Given the description of an element on the screen output the (x, y) to click on. 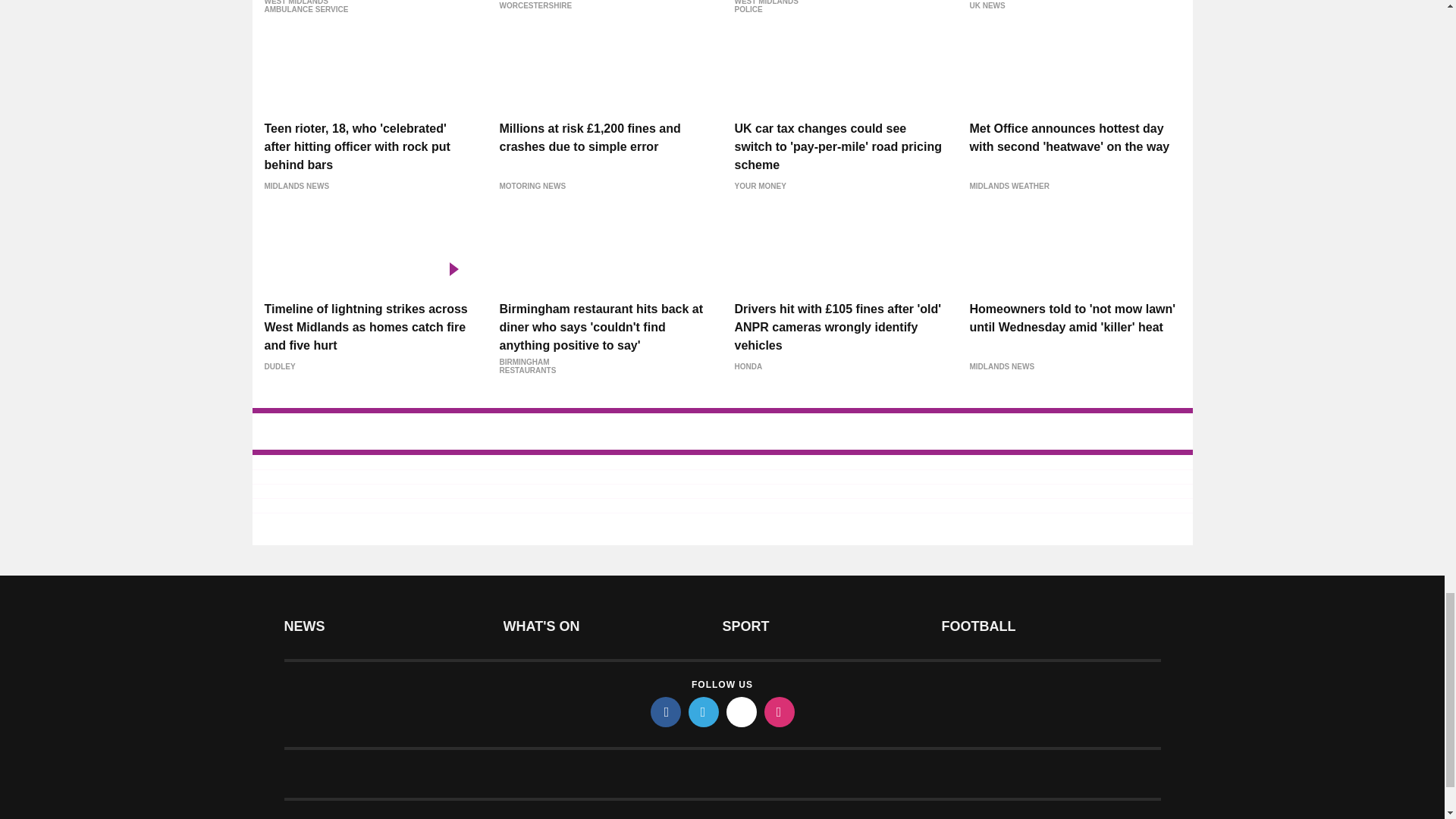
tiktok (741, 711)
facebook (665, 711)
twitter (703, 711)
instagram (779, 711)
